Given the description of an element on the screen output the (x, y) to click on. 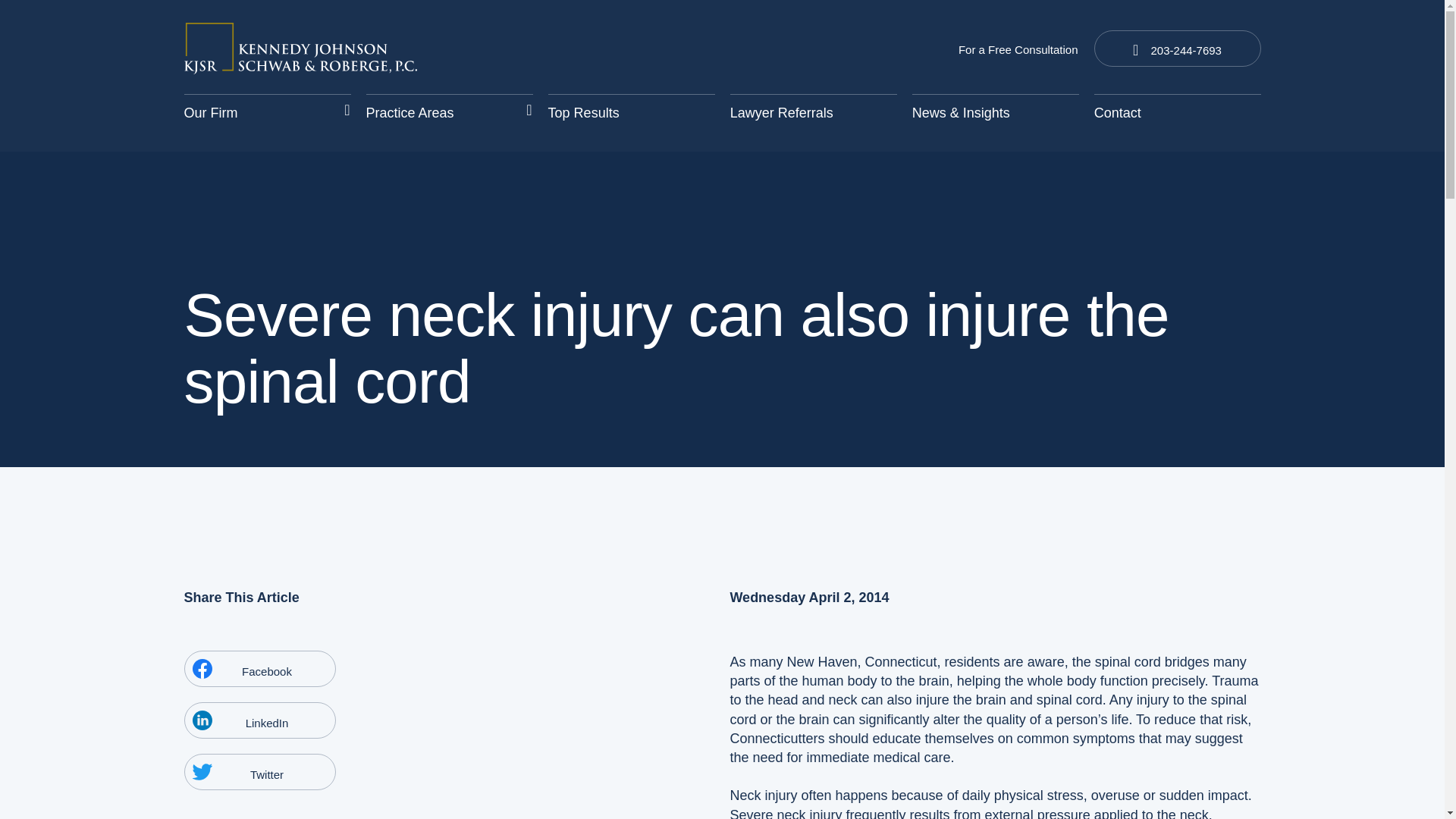
Lawyer Referrals (813, 112)
Contact (1177, 112)
LinkedIn (258, 719)
Our Firm (266, 112)
Facebook (258, 668)
Top Results (631, 112)
Practice Areas (449, 112)
203-244-7693 (1176, 48)
Twitter (258, 771)
